Given the description of an element on the screen output the (x, y) to click on. 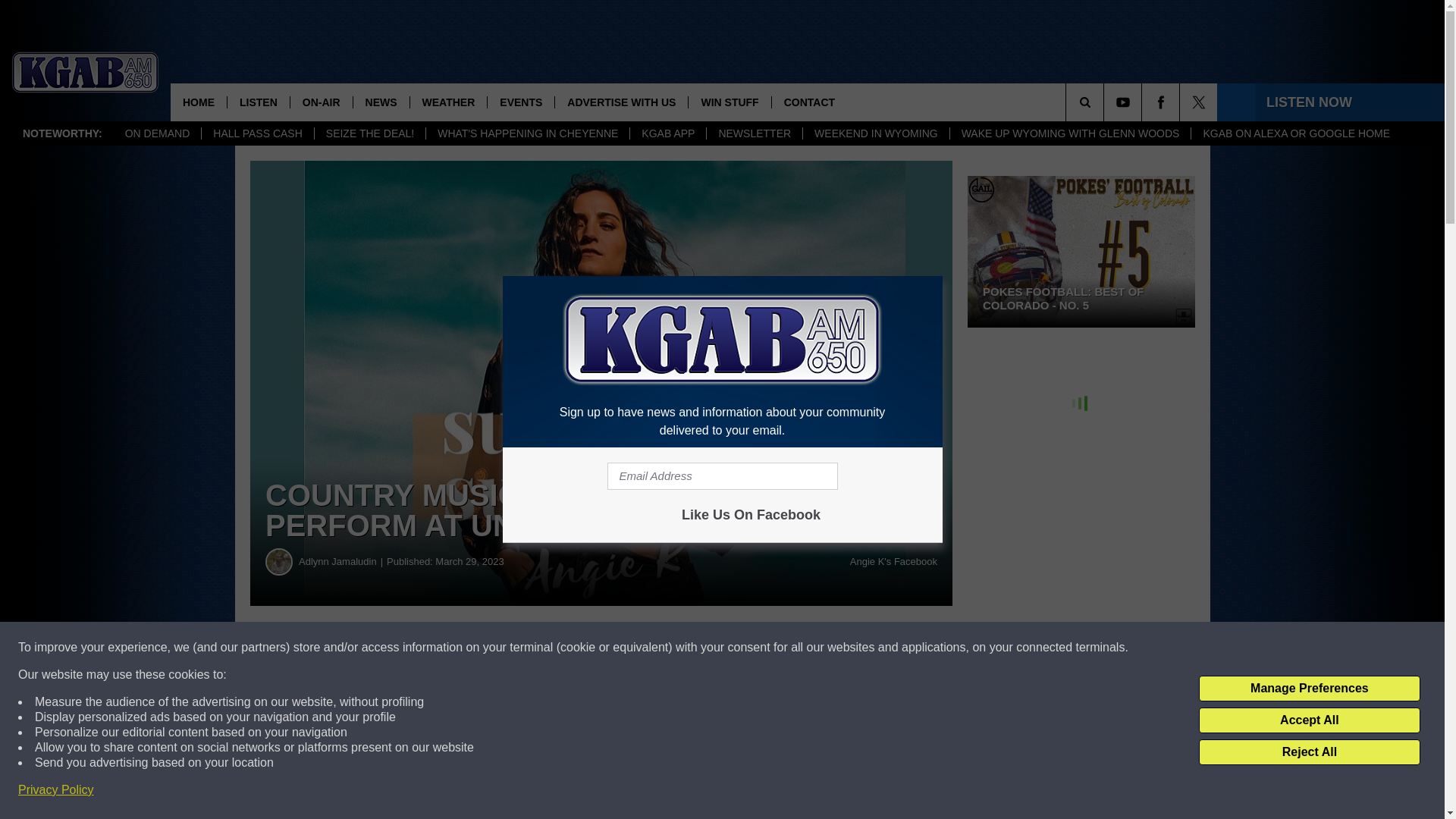
WAKE UP WYOMING WITH GLENN WOODS (1070, 133)
SEIZE THE DEAL! (369, 133)
HALL PASS CASH (257, 133)
WHAT'S HAPPENING IN CHEYENNE (526, 133)
SEARCH (1106, 102)
ON-AIR (320, 102)
Privacy Policy (55, 789)
Reject All (1309, 751)
Share on Facebook (460, 647)
Accept All (1309, 720)
NEWS (380, 102)
Share on Twitter (741, 647)
LISTEN (258, 102)
KGAB ON ALEXA OR GOOGLE HOME (1295, 133)
Email Address (722, 475)
